Given the description of an element on the screen output the (x, y) to click on. 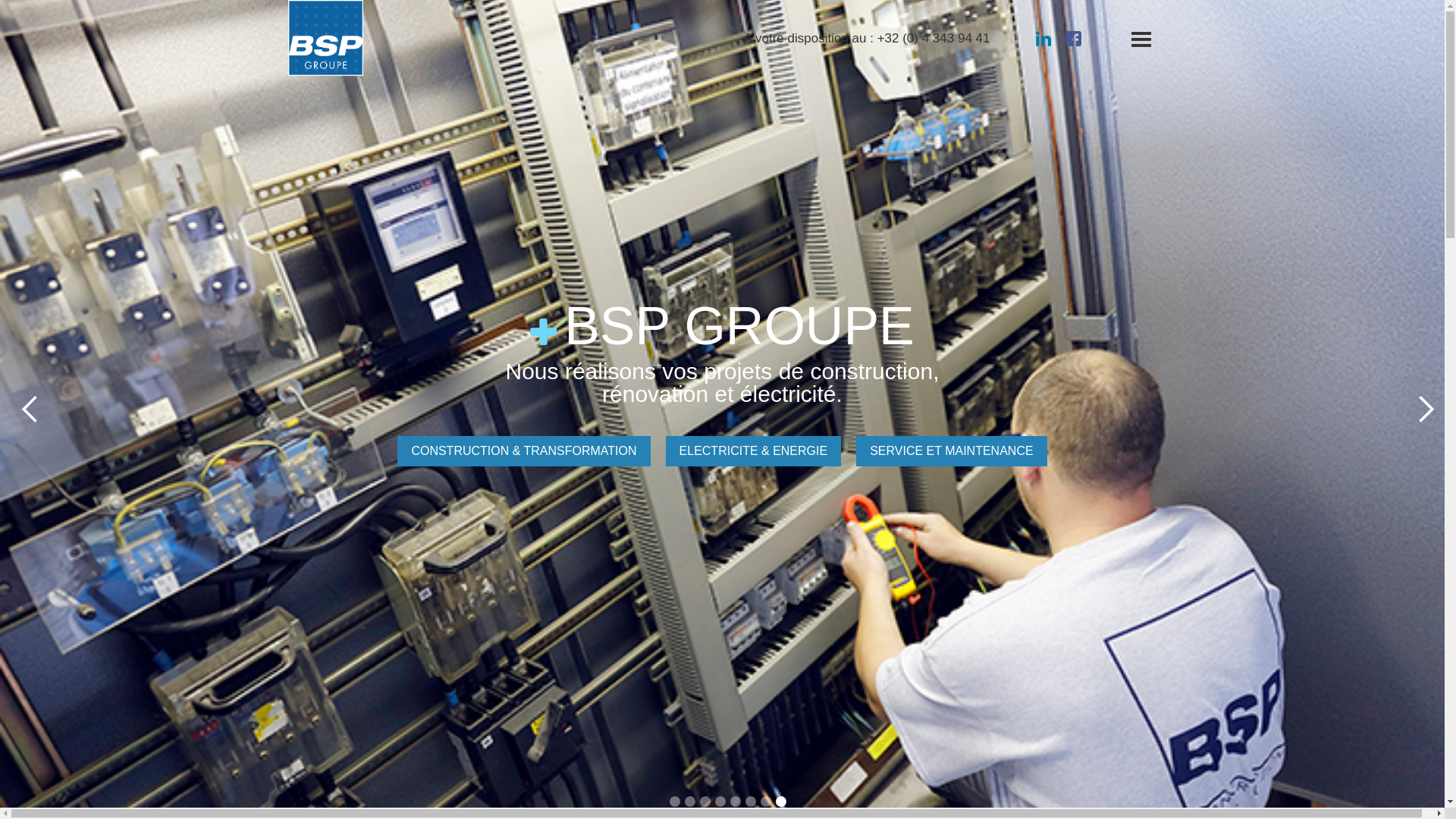
SERVICE ET MAINTENANCE Element type: text (951, 451)
ELECTRICITE & ENERGIE Element type: text (753, 451)
CONSTRUCTION & TRANSFORMATION Element type: text (523, 451)
